Given the description of an element on the screen output the (x, y) to click on. 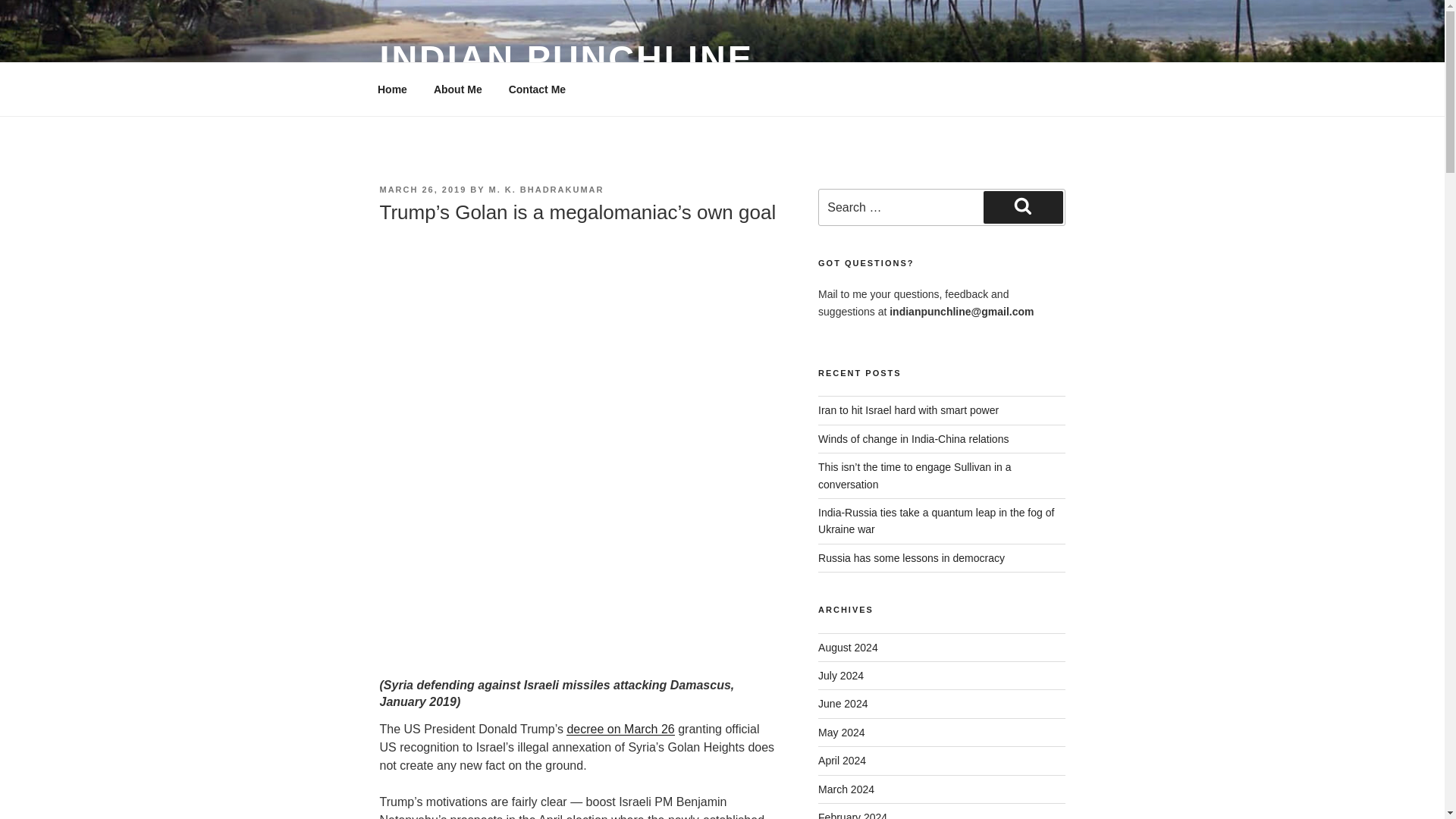
About Me (457, 89)
Russia has some lessons in democracy (911, 558)
INDIAN PUNCHLINE (565, 57)
April 2024 (842, 760)
June 2024 (842, 703)
February 2024 (852, 815)
Winds of change in India-China relations (913, 439)
May 2024 (841, 732)
M. K. BHADRAKUMAR (546, 189)
March 2024 (846, 788)
August 2024 (847, 647)
decree on March 26 (620, 728)
Search (1023, 206)
July 2024 (840, 675)
